Given the description of an element on the screen output the (x, y) to click on. 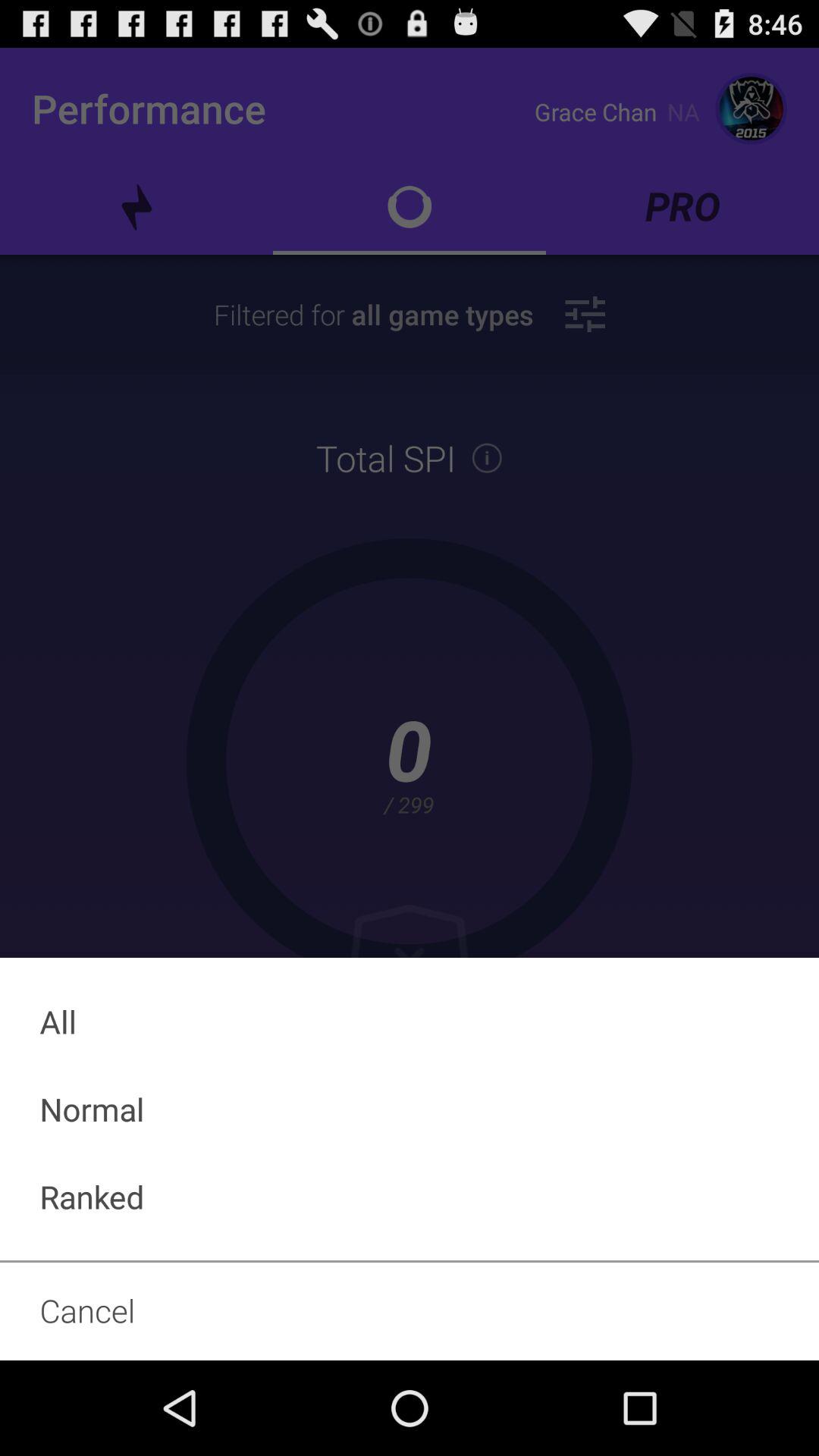
click the item above the normal icon (409, 1021)
